Given the description of an element on the screen output the (x, y) to click on. 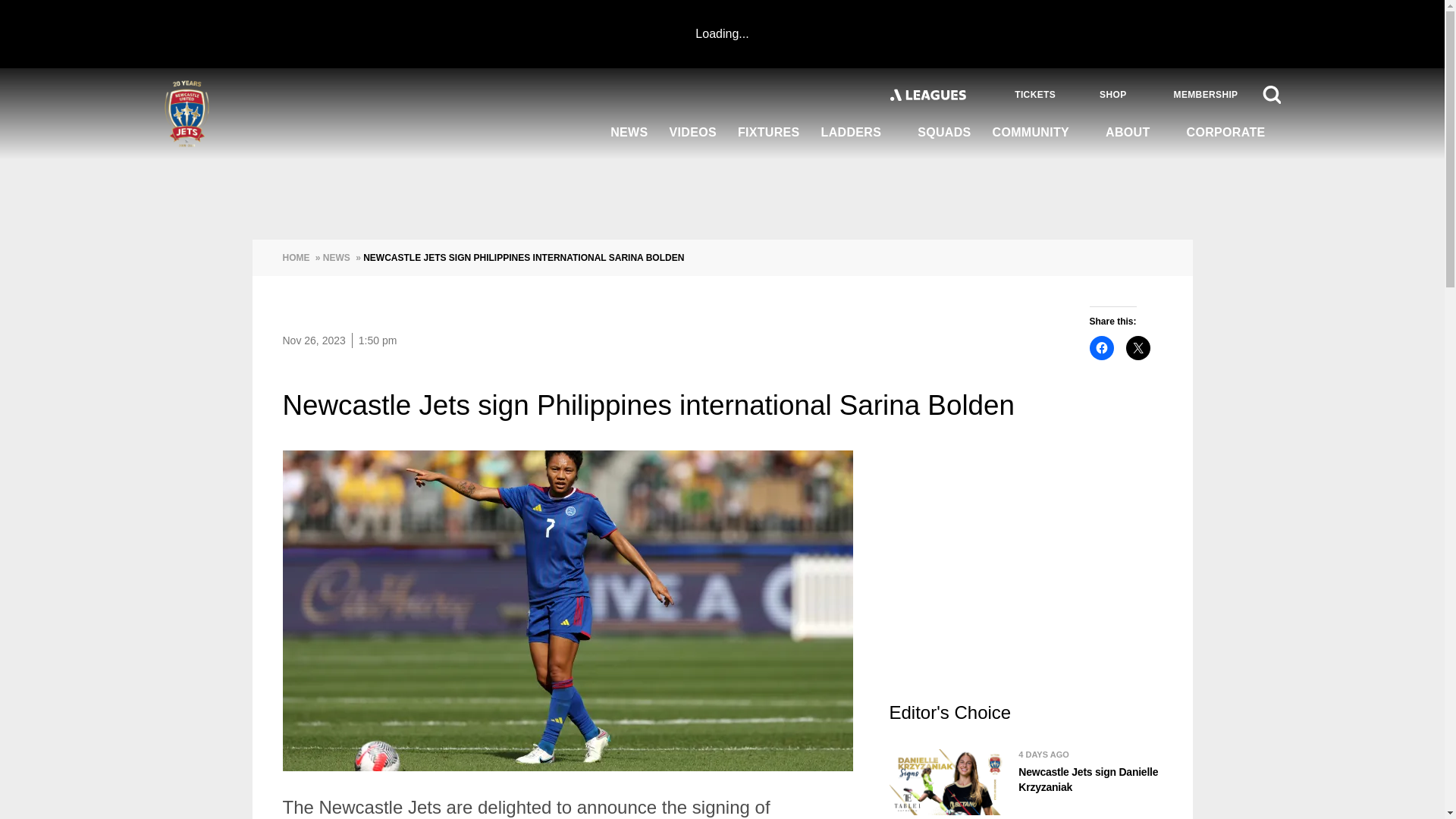
LADDERS (858, 132)
ABOUT (1134, 132)
FIXTURES (768, 133)
Click to share on X (1137, 347)
CORPORATE (1228, 132)
Click to share on Facebook (1101, 347)
COMMUNITY (1038, 132)
NEWS (628, 133)
VIDEOS (692, 133)
SQUADS (944, 133)
